Given the description of an element on the screen output the (x, y) to click on. 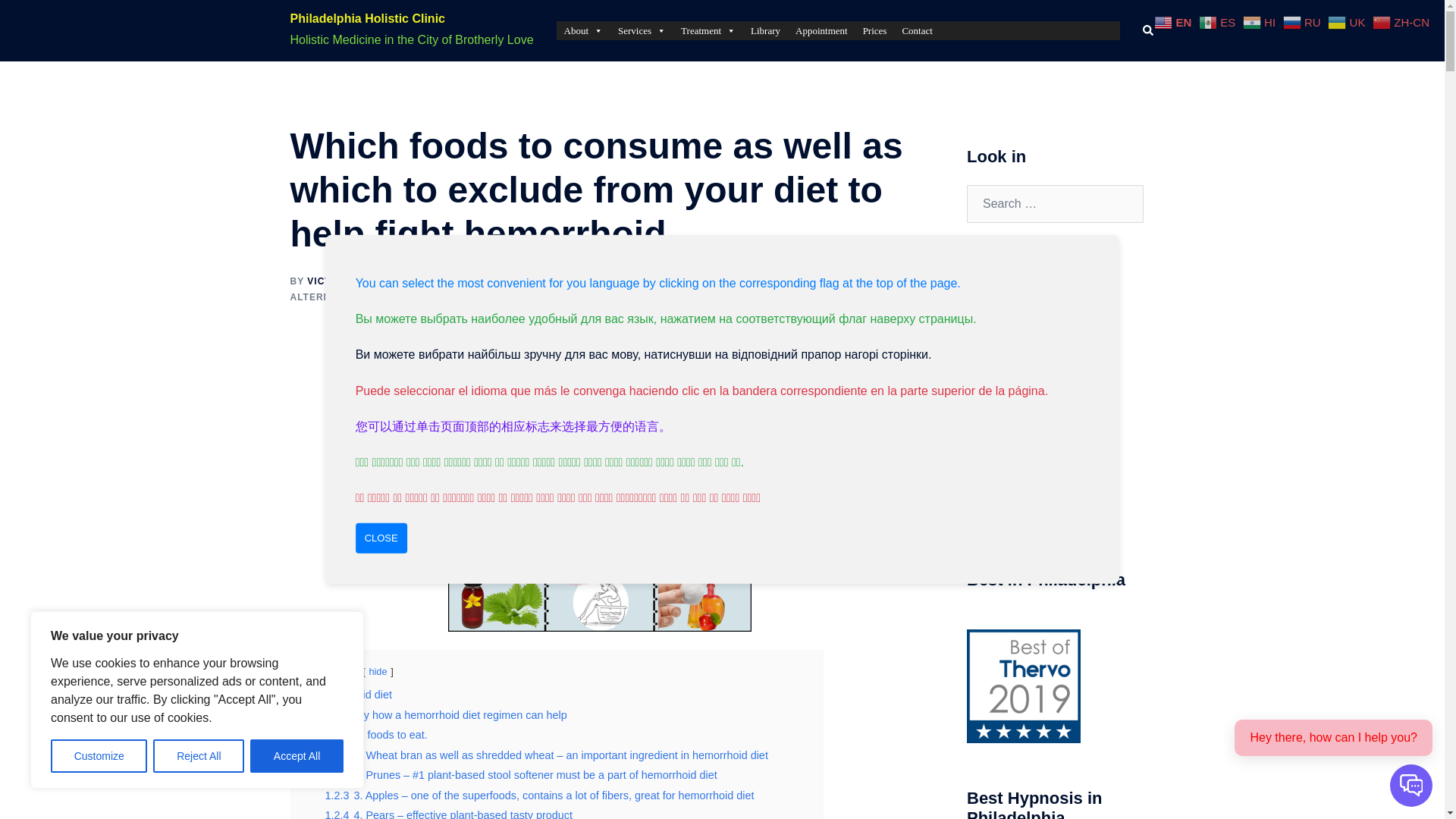
Reject All (198, 756)
Philadelphia Holistic Clinic (366, 18)
About (583, 30)
Customize (98, 756)
Accept All (296, 756)
CLOSE (381, 538)
Services (641, 30)
English (1174, 21)
